Given the description of an element on the screen output the (x, y) to click on. 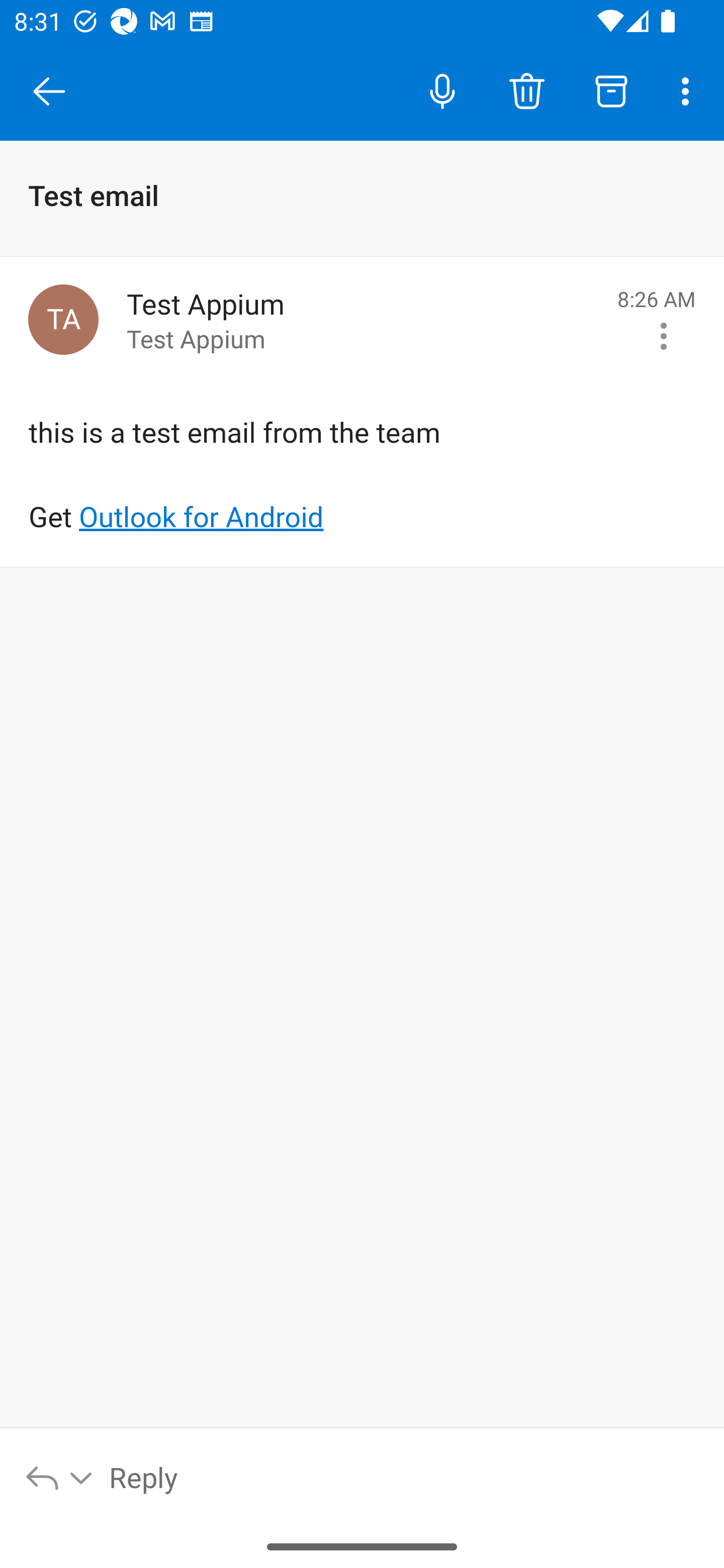
Close (49, 91)
Delete (526, 90)
Archive (611, 90)
More options (688, 90)
Test Appium, testappium002@outlook.com (63, 318)
Test Appium
to Test Appium (364, 319)
Message actions (663, 336)
Reply options (59, 1476)
